Given the description of an element on the screen output the (x, y) to click on. 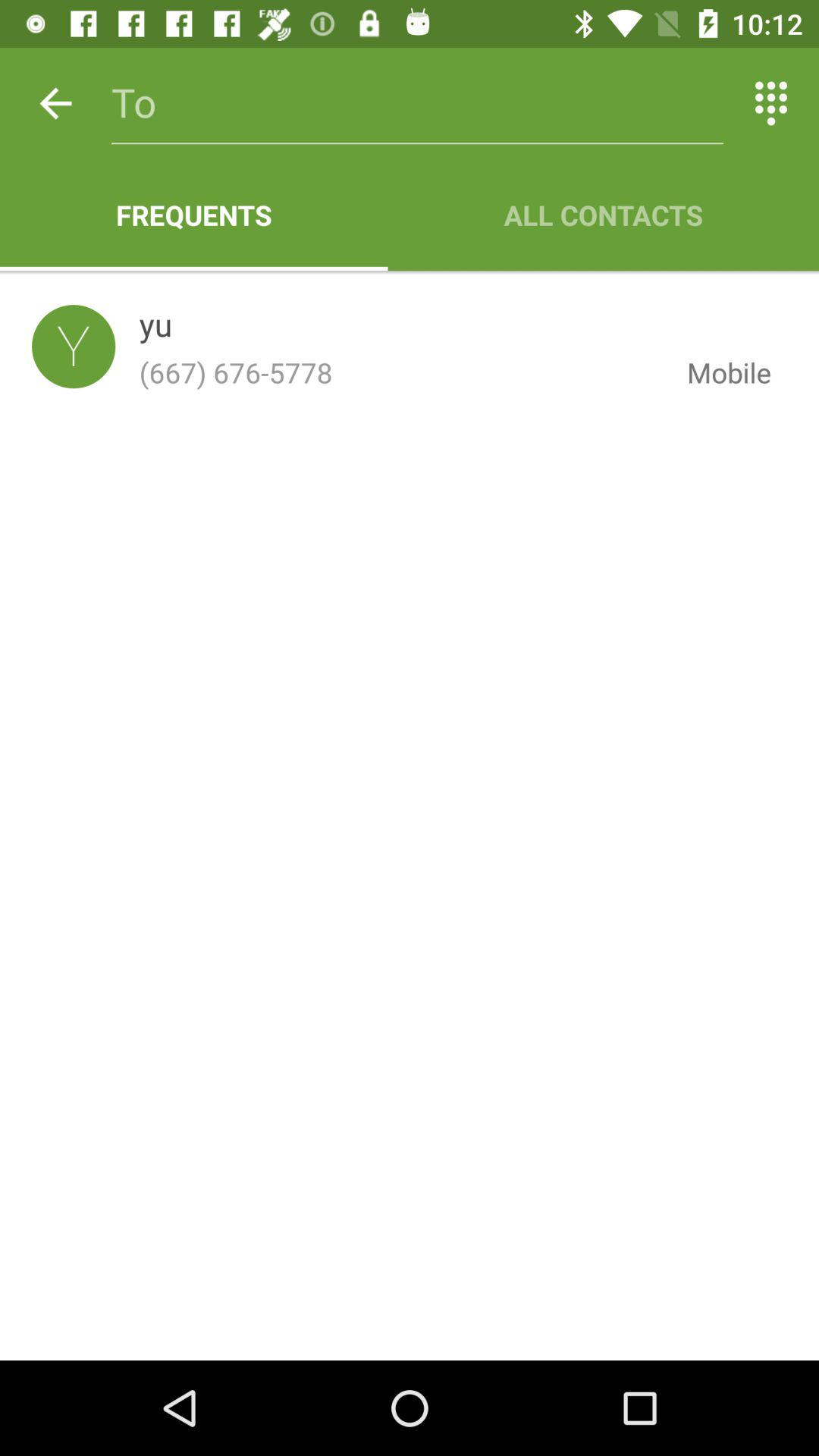
press the icon to the right of the frequents item (603, 214)
